Given the description of an element on the screen output the (x, y) to click on. 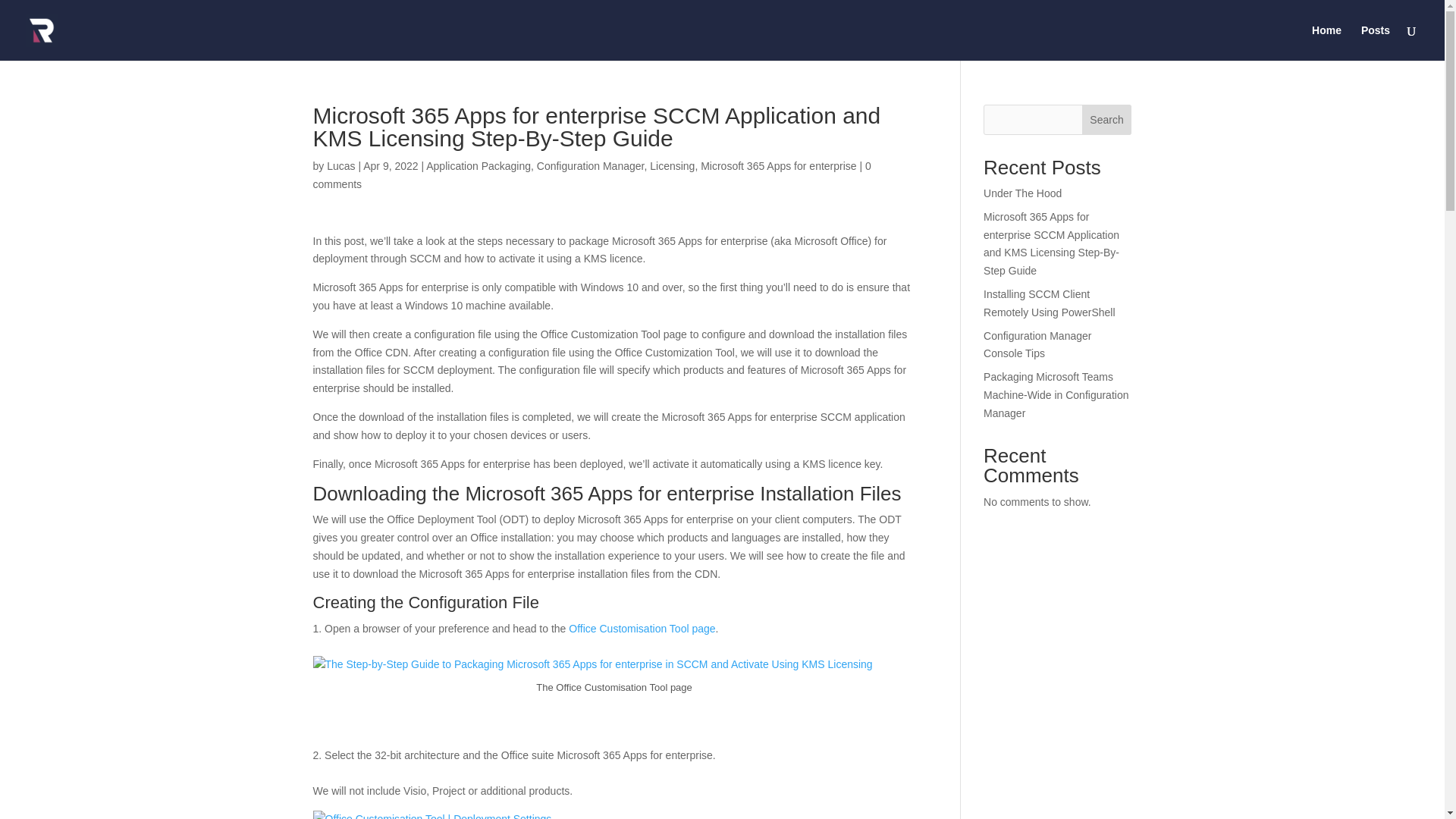
Application Packaging (478, 165)
Office Customisation Tool page (641, 628)
Posts by Lucas (340, 165)
Lucas (340, 165)
Microsoft 365 Apps for enterprise (778, 165)
Configuration Manager (591, 165)
Under The Hood (1022, 193)
Configuration Manager Console Tips (1037, 345)
Search (1106, 119)
Installing SCCM Client Remotely Using PowerShell (1049, 303)
Licensing (671, 165)
0 comments (591, 174)
